Given the description of an element on the screen output the (x, y) to click on. 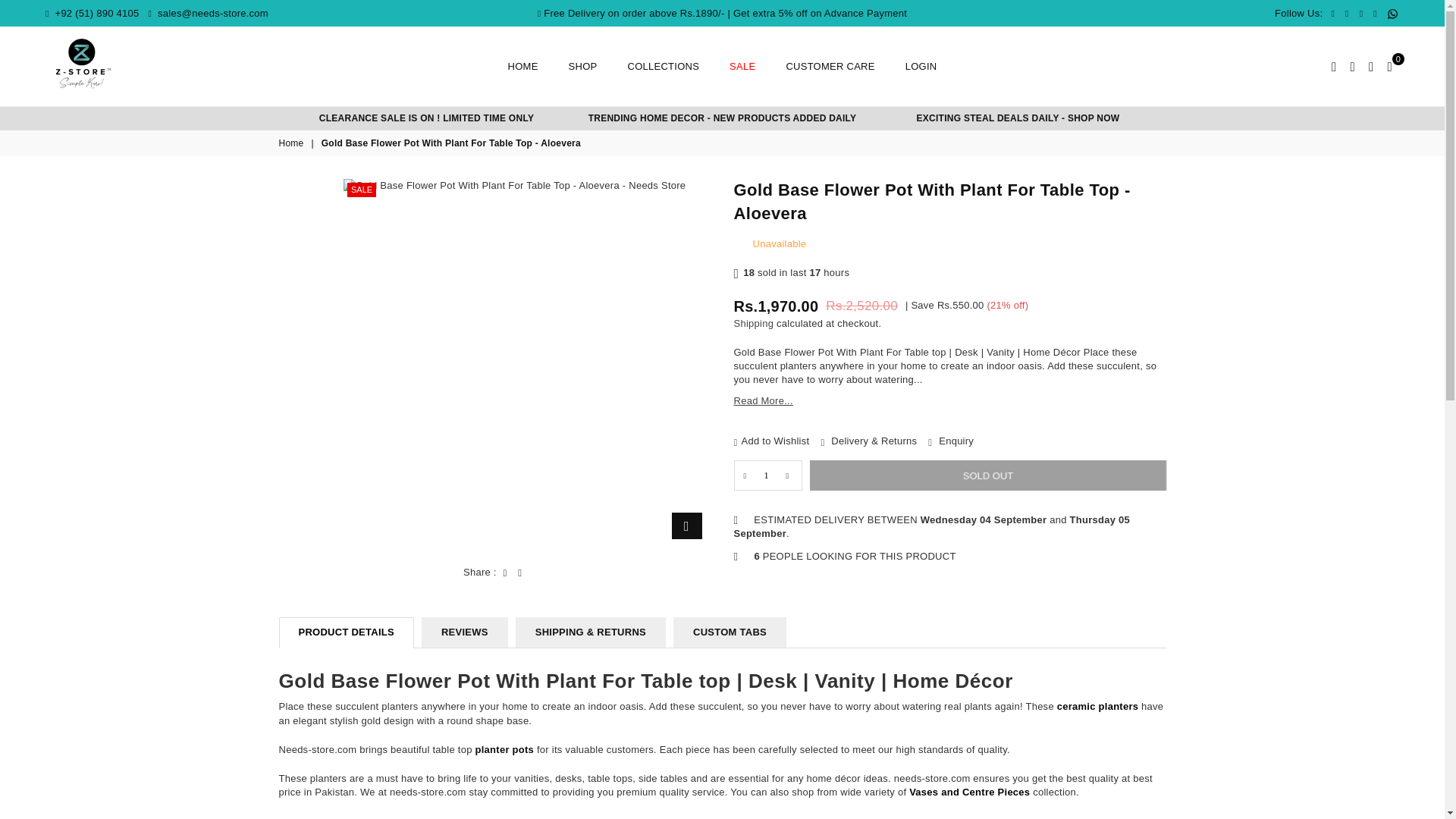
HOME (523, 66)
Needs Store on Whatsapp (1392, 13)
Vases and Centre Pieces (968, 792)
Quantity (767, 475)
Whatsapp (1392, 13)
Needs Store on Pinterest (1361, 13)
Needs Store on Facebook (1331, 13)
Facebook (1331, 13)
NEEDS STORE (82, 64)
Needs Store on Instagram (1374, 13)
